Given the description of an element on the screen output the (x, y) to click on. 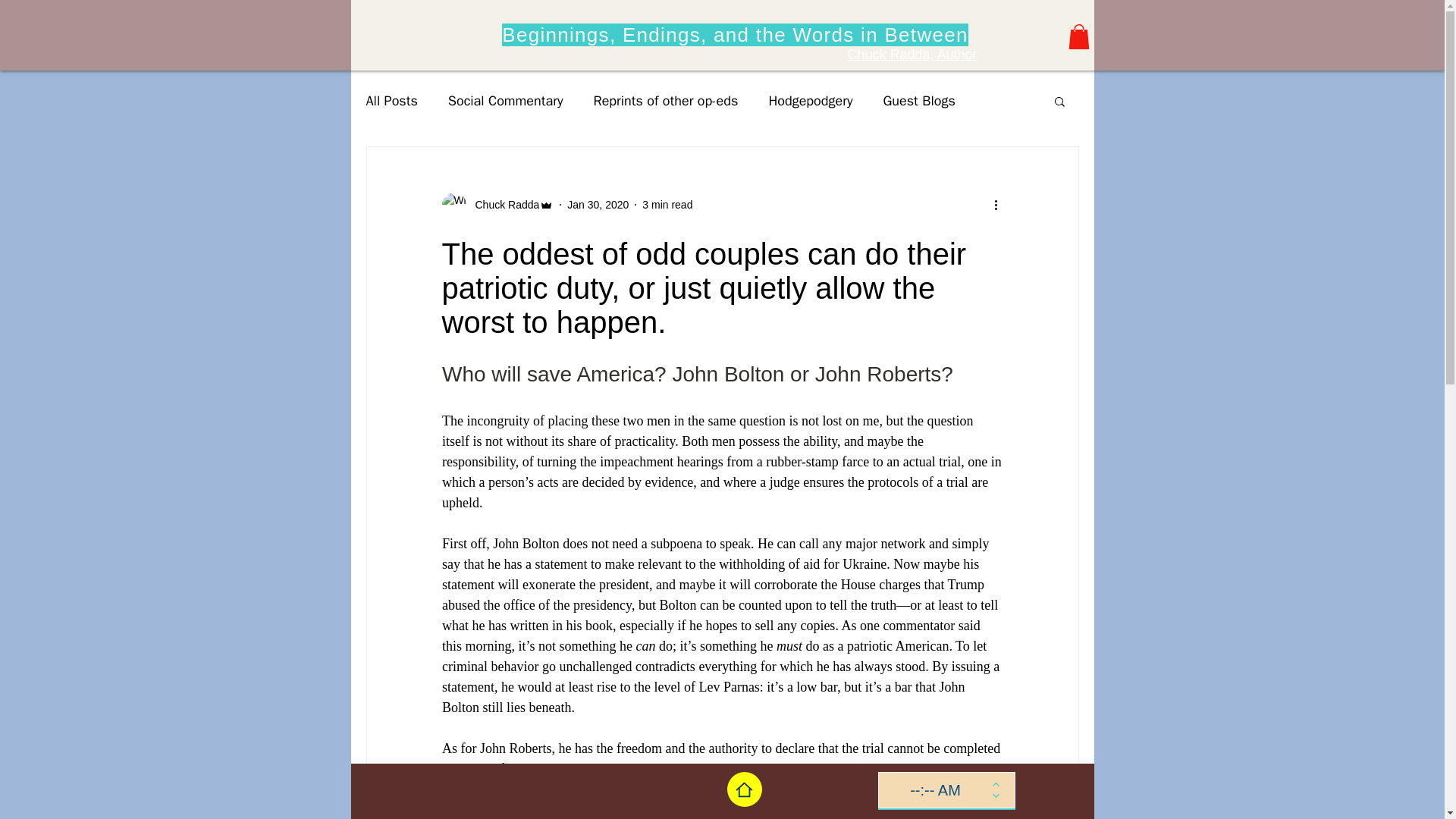
Social Commentary (505, 100)
3 min read (667, 204)
Hodgepodgery (809, 100)
Chuck Radda (497, 204)
Reprints of other op-eds (666, 100)
Chuck Radda (501, 204)
--:-- AM (934, 790)
Guest Blogs (918, 100)
All Posts (390, 100)
Chuck Radda, Author (911, 54)
Jan 30, 2020 (597, 204)
